Given the description of an element on the screen output the (x, y) to click on. 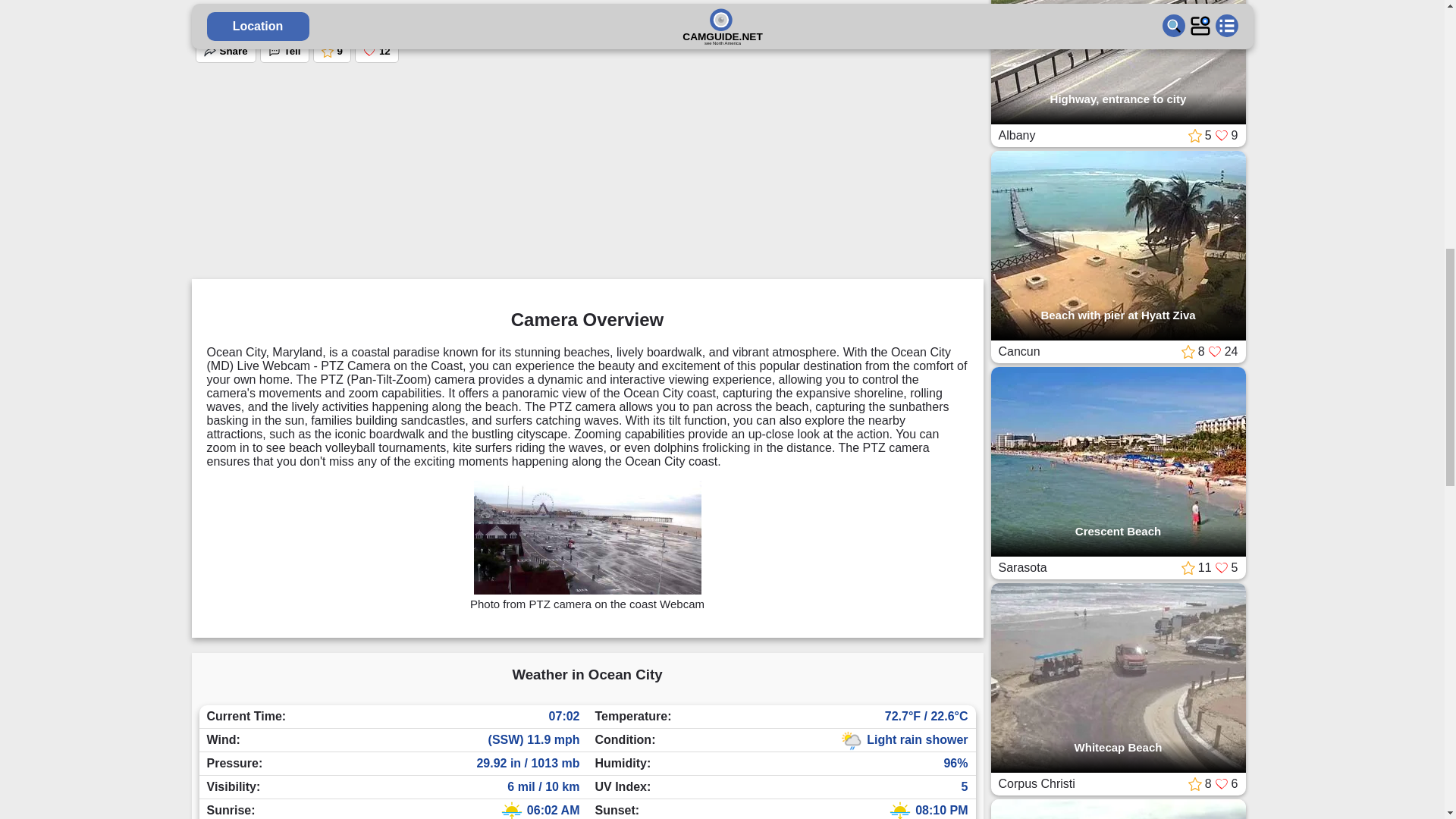
Share (225, 51)
Tell (284, 51)
9 (331, 51)
12 (376, 51)
